Given the description of an element on the screen output the (x, y) to click on. 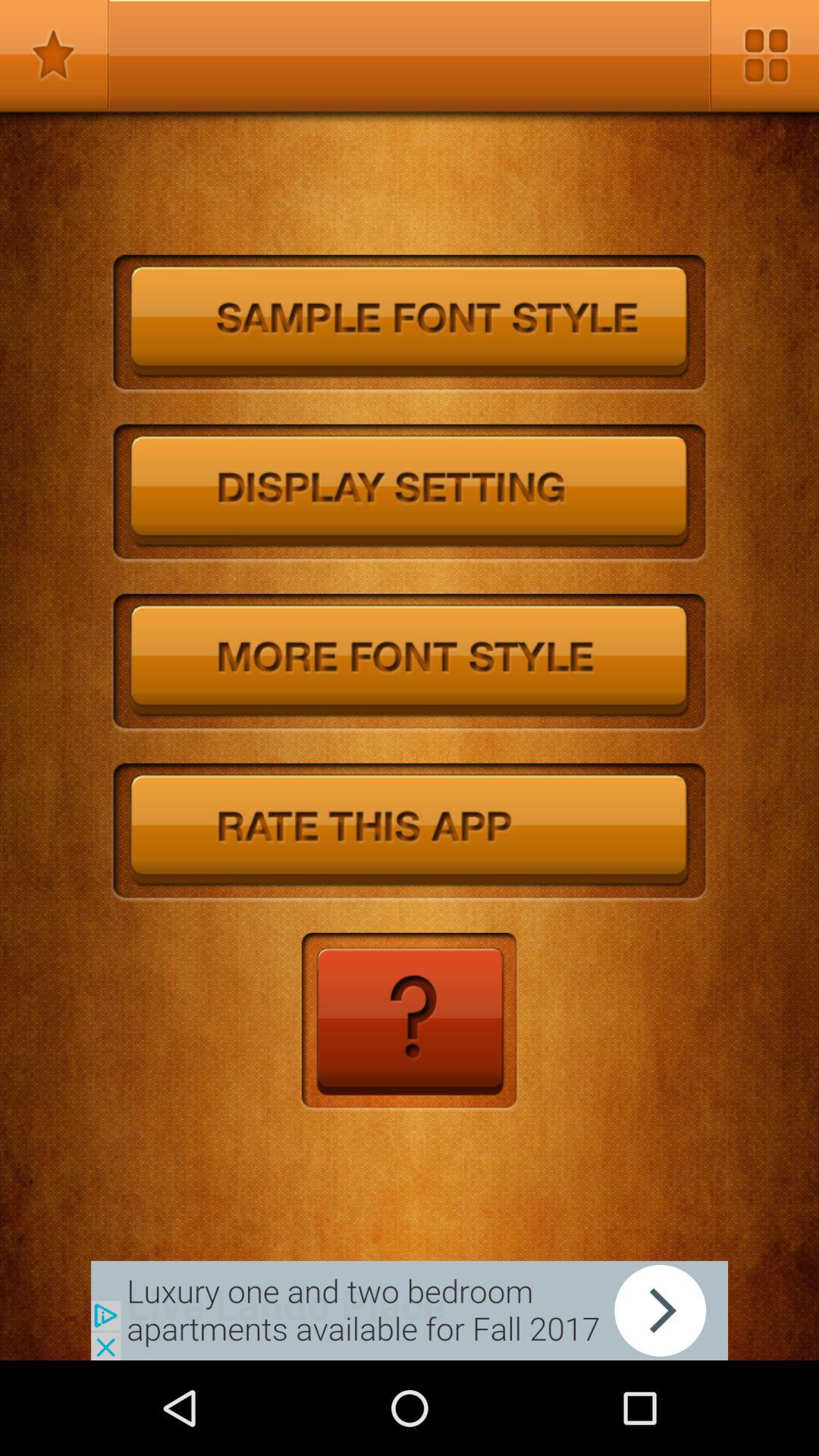
rate the app (409, 832)
